Given the description of an element on the screen output the (x, y) to click on. 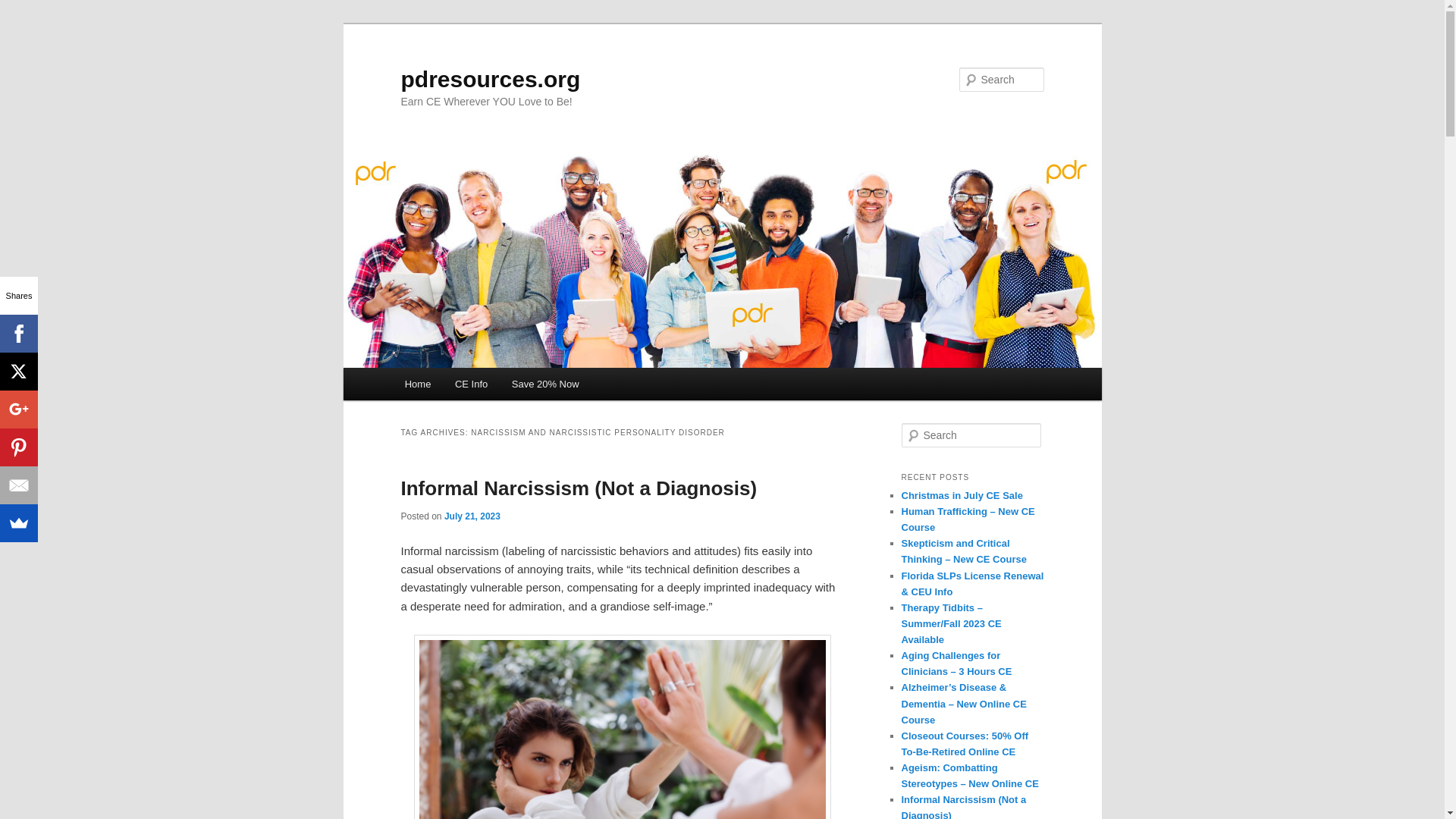
July 21, 2023 (472, 516)
2:25 pm (472, 516)
Home (417, 383)
CE Info (470, 383)
pdresources.org (489, 78)
Search (24, 8)
